Given the description of an element on the screen output the (x, y) to click on. 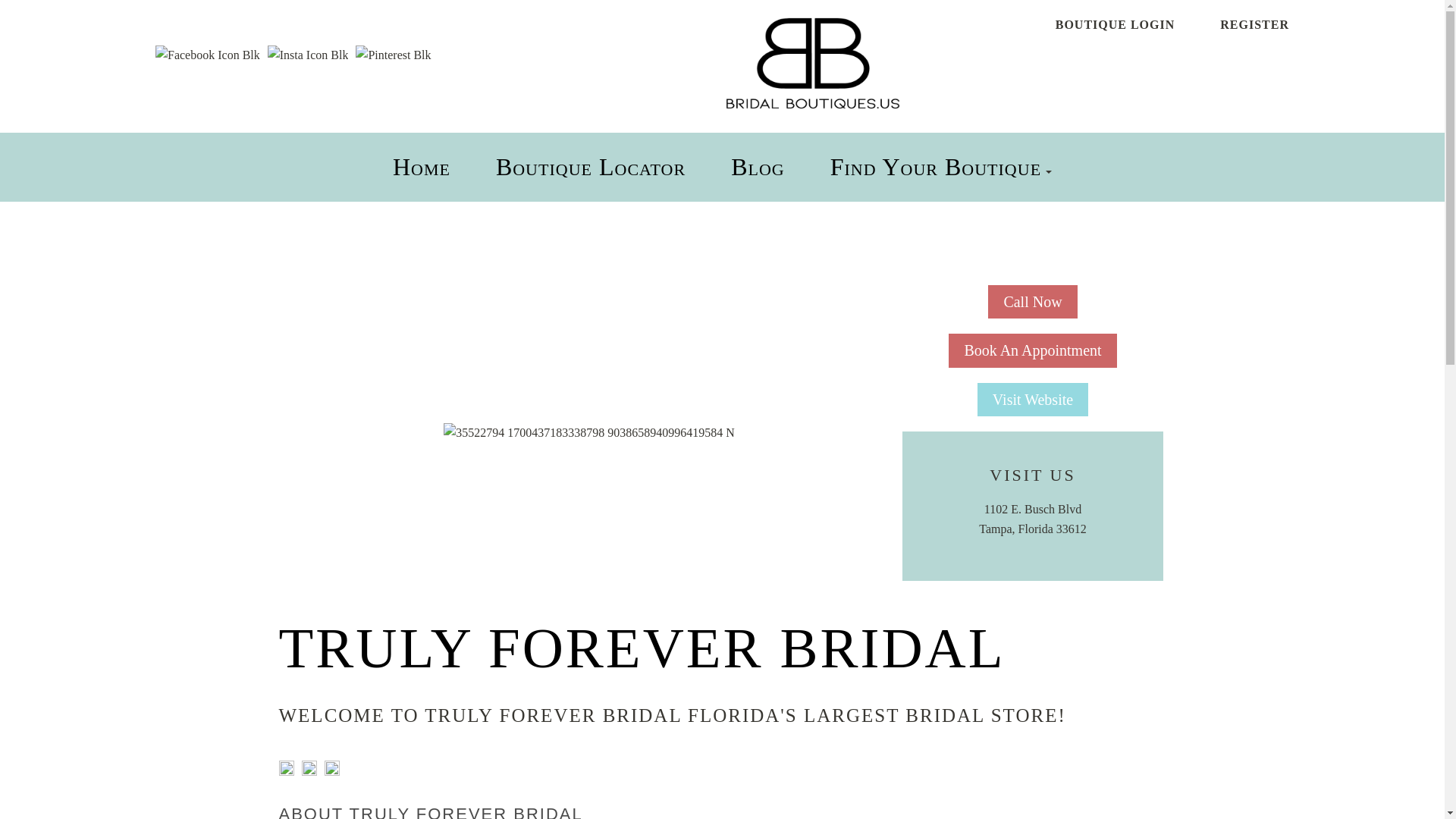
REGISTER (1254, 24)
Boutique Locator (590, 166)
Home (421, 166)
BOUTIQUE LOGIN (1114, 24)
Call Now (1032, 302)
Find Your Boutique (935, 166)
Visit Website (1031, 399)
Blog (757, 166)
Book An Appointment (1032, 350)
